Given the description of an element on the screen output the (x, y) to click on. 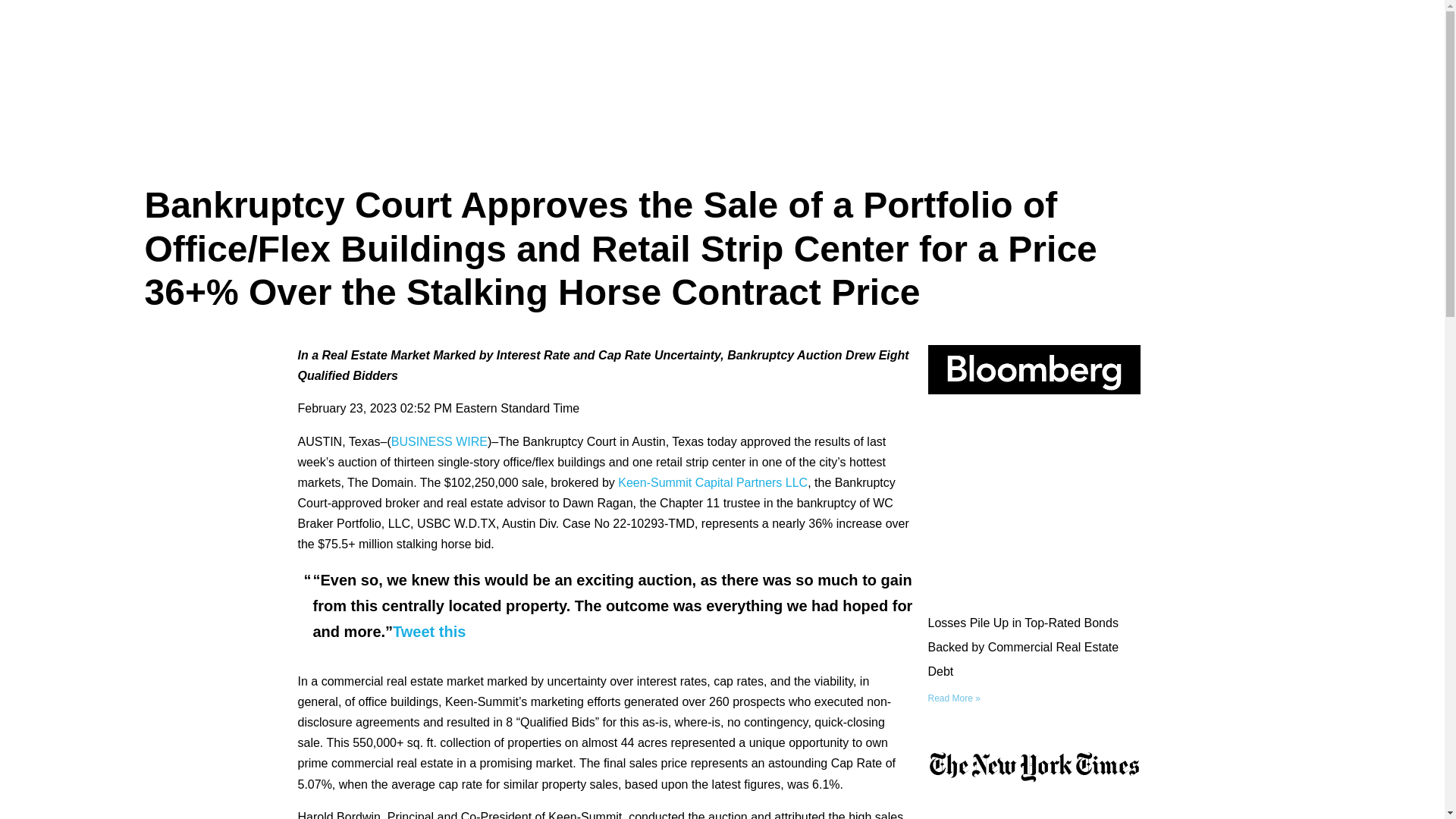
Keen-Summit Capital Partners LLC (712, 481)
BUSINESS WIRE (439, 440)
Tweet this (429, 631)
